Given the description of an element on the screen output the (x, y) to click on. 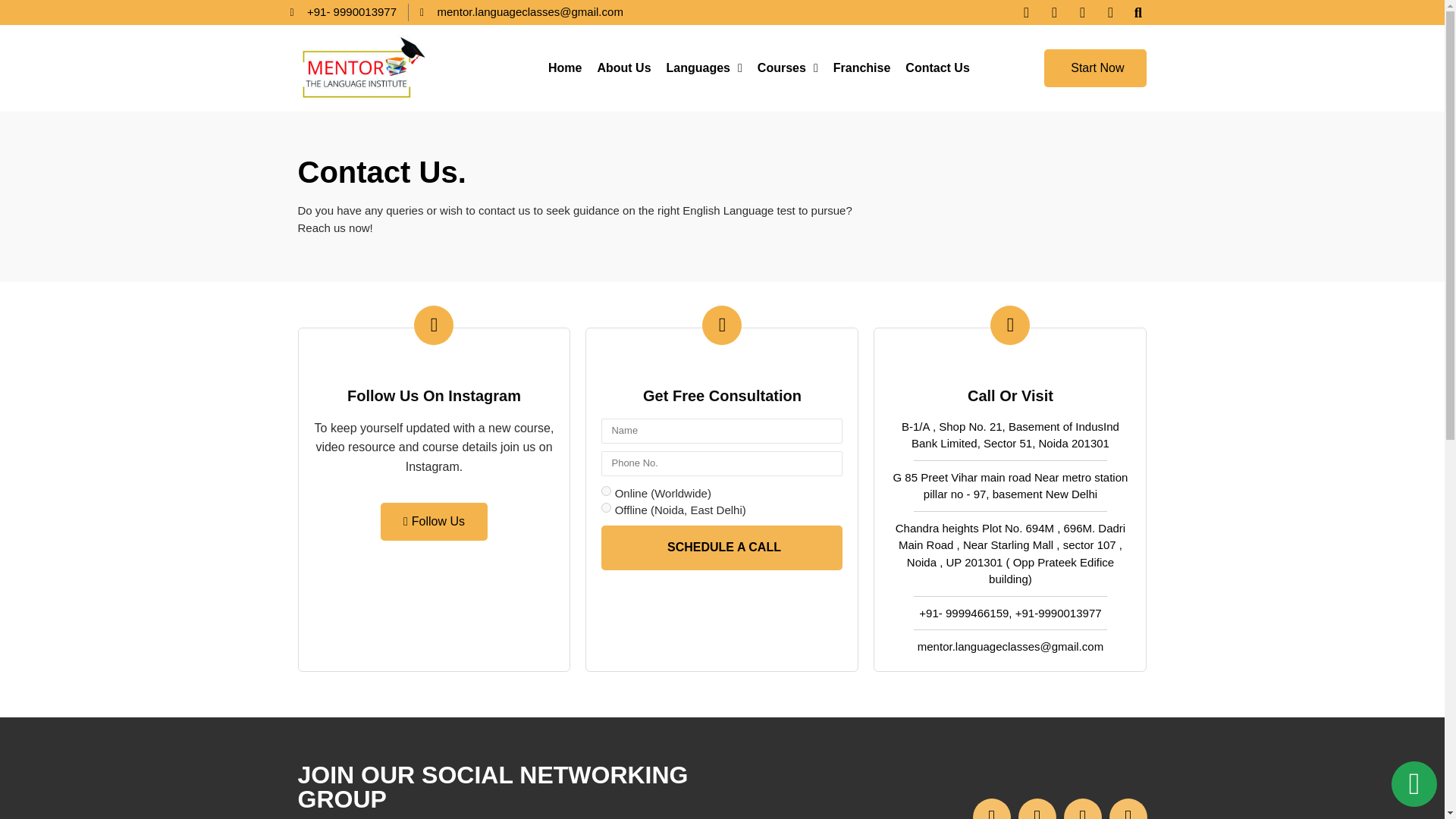
Languages (704, 67)
Courses (787, 67)
Contact Us (937, 67)
Franchise (861, 67)
About Us (623, 67)
Home (564, 67)
